Given the description of an element on the screen output the (x, y) to click on. 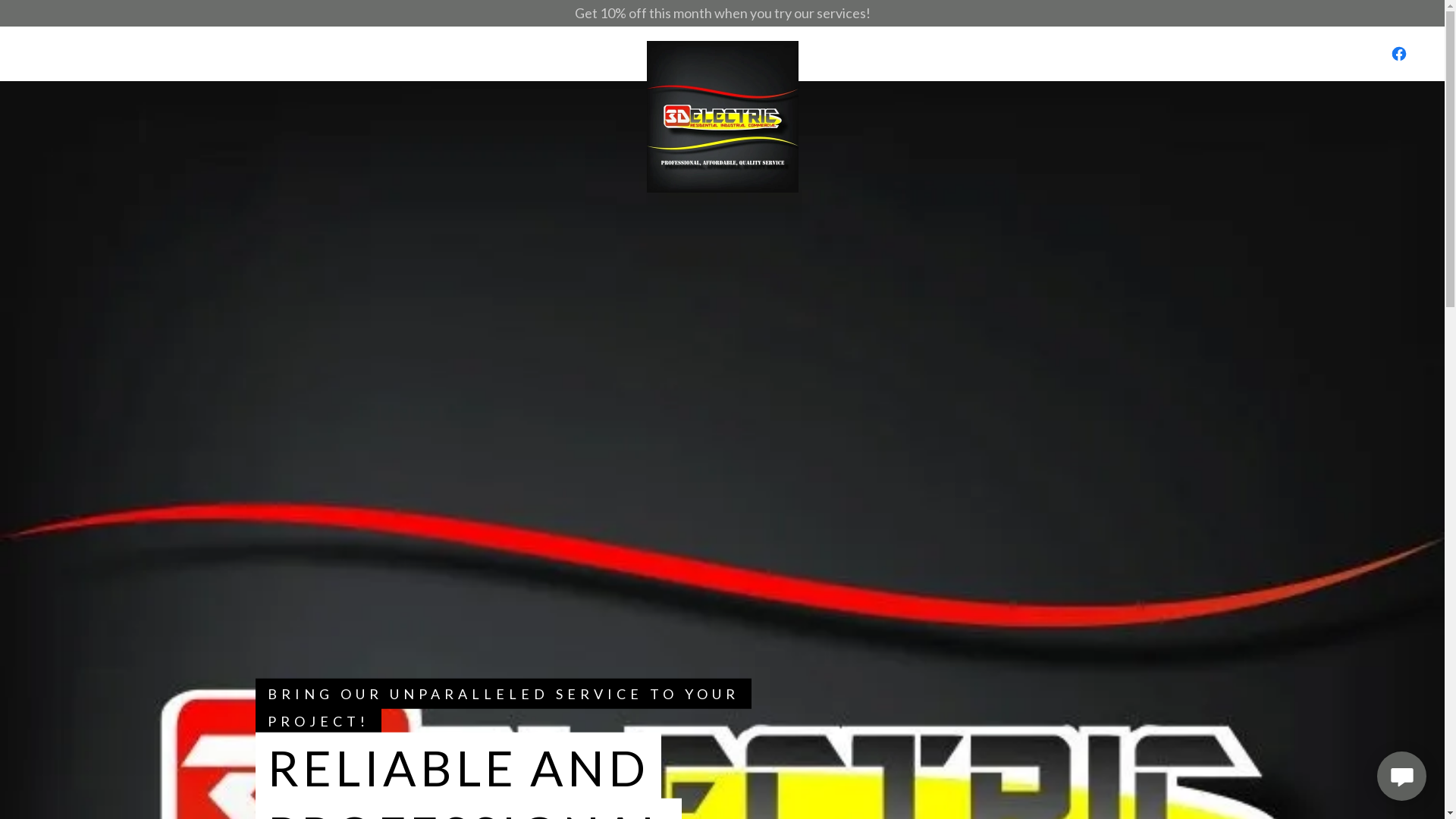
Get 10% off this month when you try our services! Element type: text (722, 13)
3D Electric Element type: hover (721, 53)
